Given the description of an element on the screen output the (x, y) to click on. 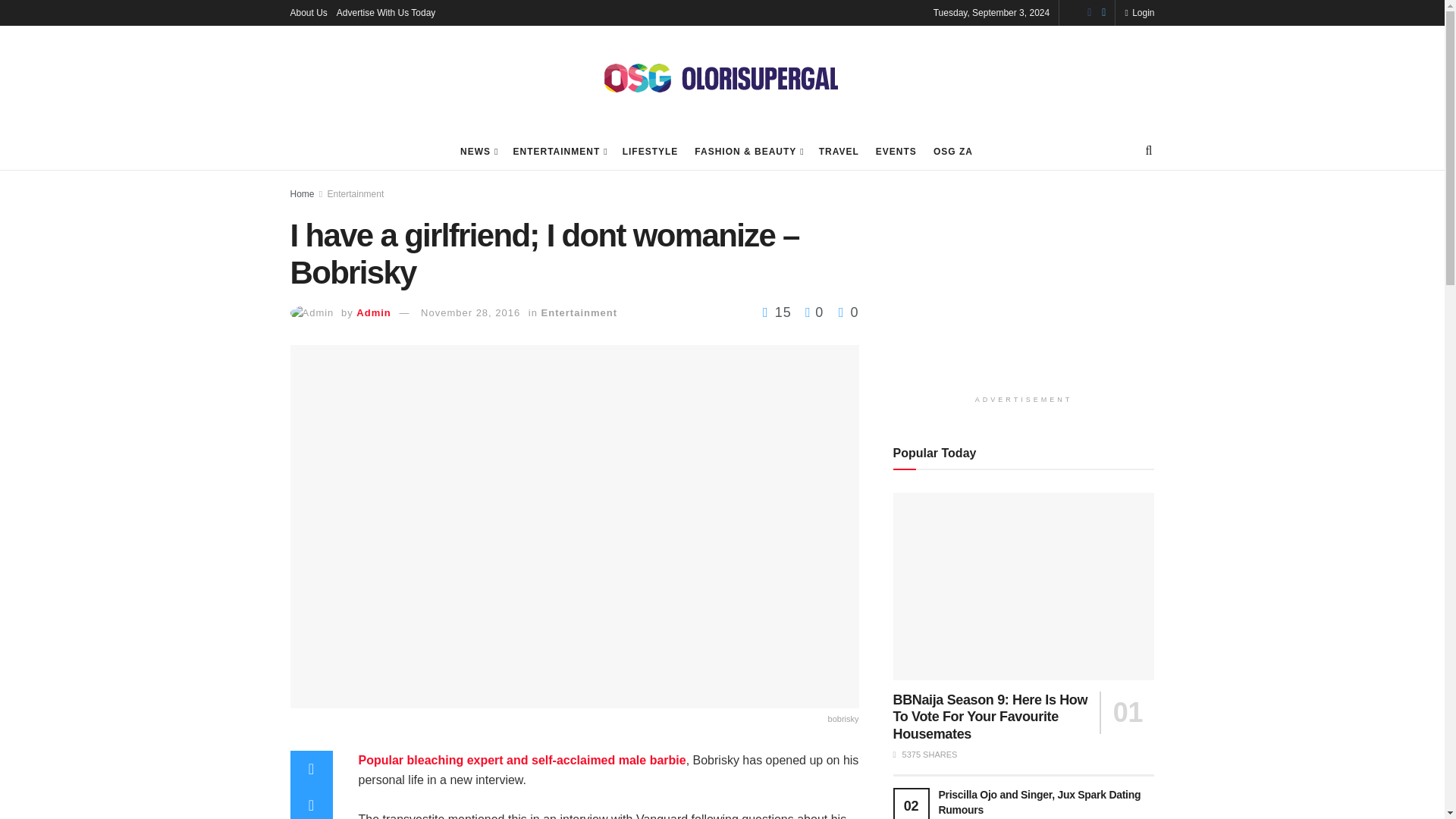
ENTERTAINMENT (558, 151)
LIFESTYLE (650, 151)
Advertise With Us Today (385, 12)
NEWS (478, 151)
TRAVEL (838, 151)
EVENTS (896, 151)
Advertisement (1023, 288)
OSG ZA (952, 151)
Login (1139, 12)
About Us (307, 12)
